Given the description of an element on the screen output the (x, y) to click on. 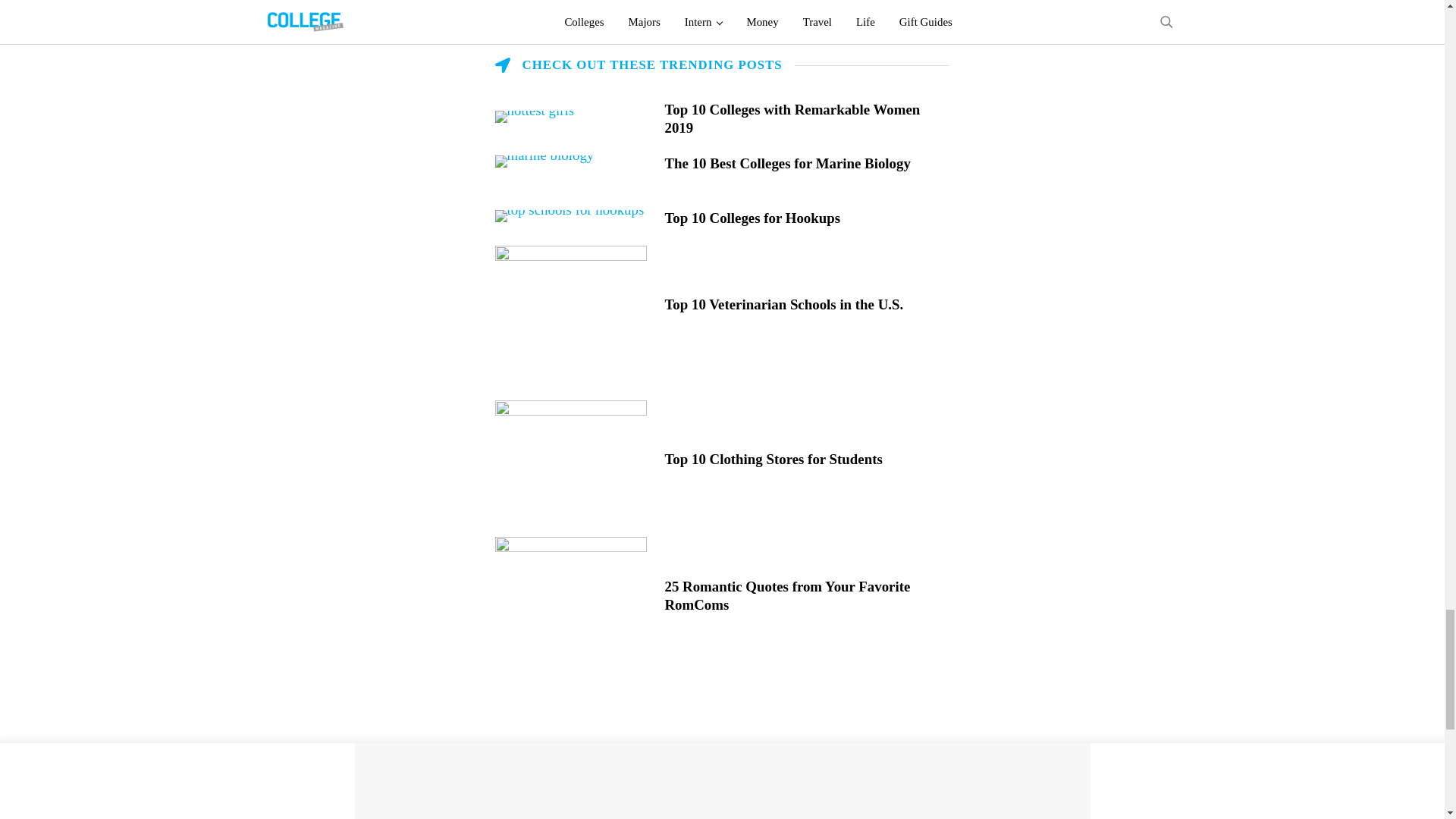
Top 10 Colleges for Hookups (806, 218)
25 Romantic Quotes from Your Favorite RomComs (806, 596)
Top 10 Clothing Stores for Students (806, 459)
The 10 Best Colleges for Marine Biology (806, 163)
Top 10 Colleges with Remarkable Women 2019 (806, 118)
Top 10 Veterinarian Schools in the U.S. (806, 304)
